Given the description of an element on the screen output the (x, y) to click on. 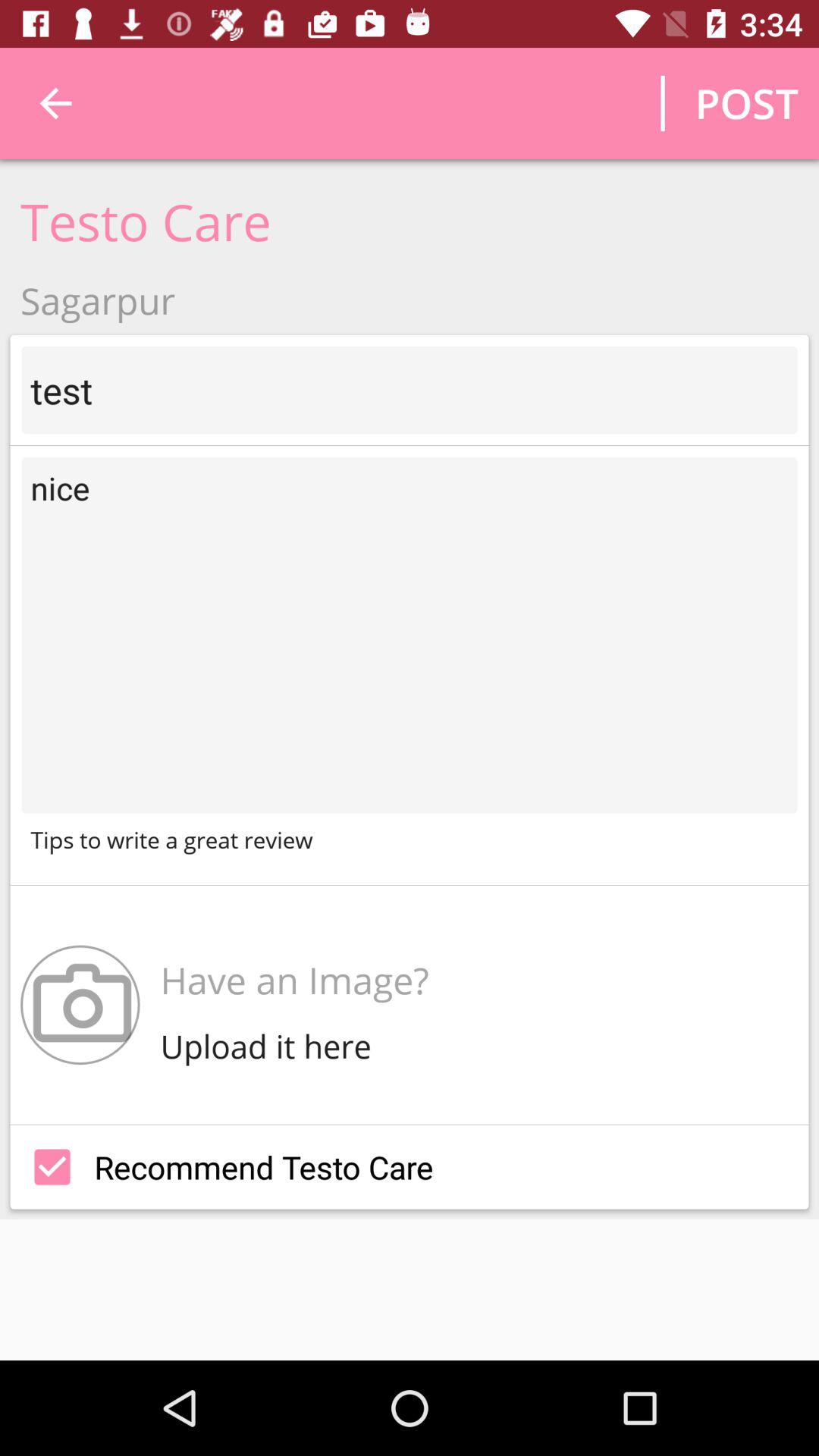
jump to the nice (409, 635)
